Given the description of an element on the screen output the (x, y) to click on. 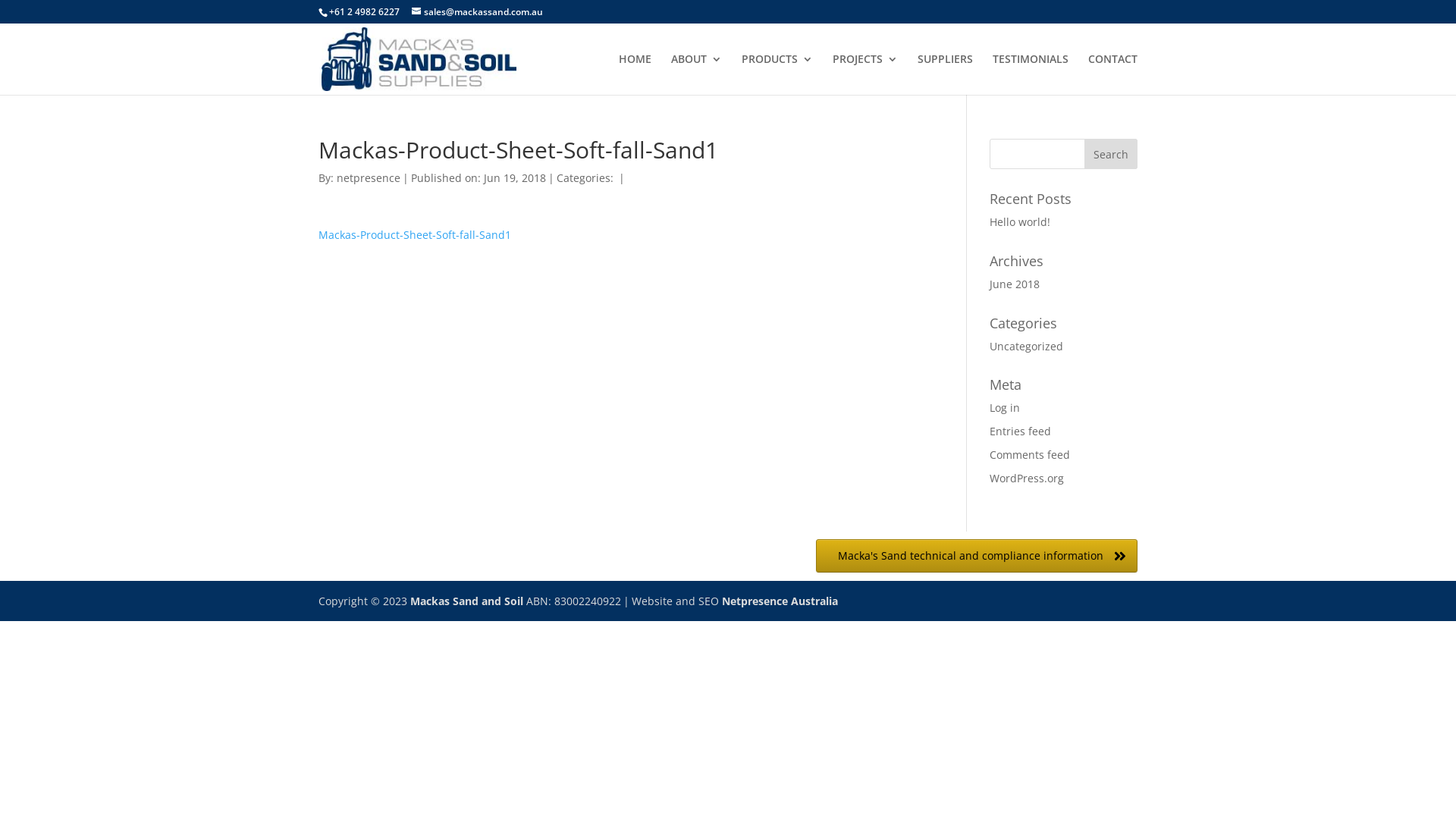
Uncategorized Element type: text (1026, 345)
SUPPLIERS Element type: text (944, 73)
Entries feed Element type: text (1020, 430)
PROJECTS Element type: text (864, 73)
Hello world! Element type: text (1019, 221)
ABOUT Element type: text (696, 73)
HOME Element type: text (634, 73)
Netpresence Australia Element type: text (779, 600)
WordPress.org Element type: text (1026, 477)
PRODUCTS Element type: text (776, 73)
+61 2 4982 6227 Element type: text (363, 11)
Mackas Sand and Soil Element type: text (466, 600)
CONTACT Element type: text (1112, 73)
June 2018 Element type: text (1014, 283)
TESTIMONIALS Element type: text (1030, 73)
Macka's Sand technical and compliance information Element type: text (976, 555)
Search Element type: text (1110, 153)
sales@mackassand.com.au Element type: text (476, 11)
Mackas-Product-Sheet-Soft-fall-Sand1 Element type: text (414, 234)
netpresence Element type: text (368, 177)
Log in Element type: text (1004, 407)
Comments feed Element type: text (1029, 454)
